Given the description of an element on the screen output the (x, y) to click on. 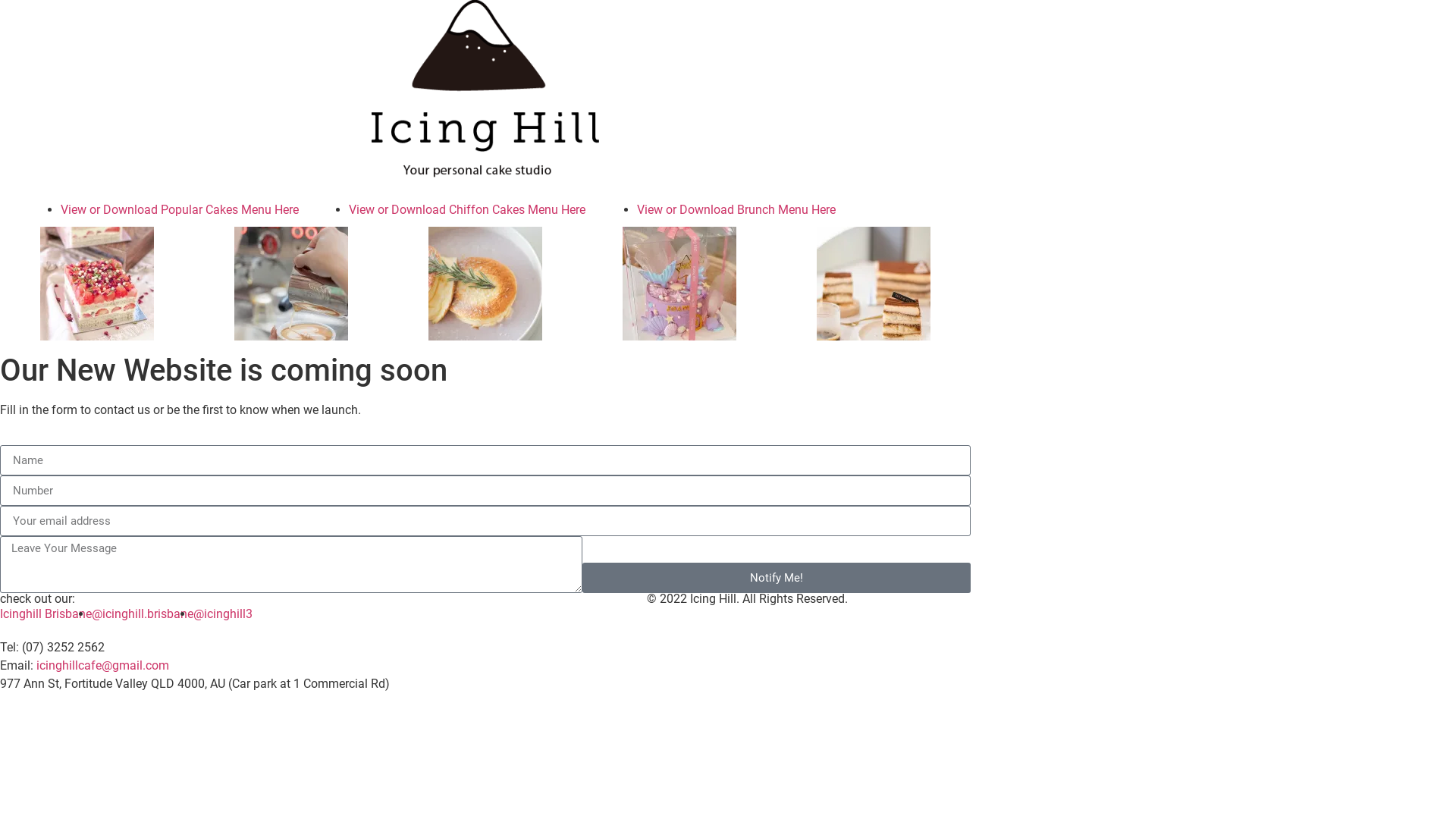
Icinghill Brisbane Element type: text (45, 613)
View or Download Chiffon Cakes Menu Here Element type: text (466, 209)
View or Download Popular Cakes Menu Here Element type: text (179, 209)
Notify Me! Element type: text (776, 577)
icinghillcafe@gmail.com Element type: text (102, 665)
@icinghill.brisbane Element type: text (142, 613)
View or Download Brunch Menu Here Element type: text (736, 209)
@icinghill3 Element type: text (222, 613)
